Given the description of an element on the screen output the (x, y) to click on. 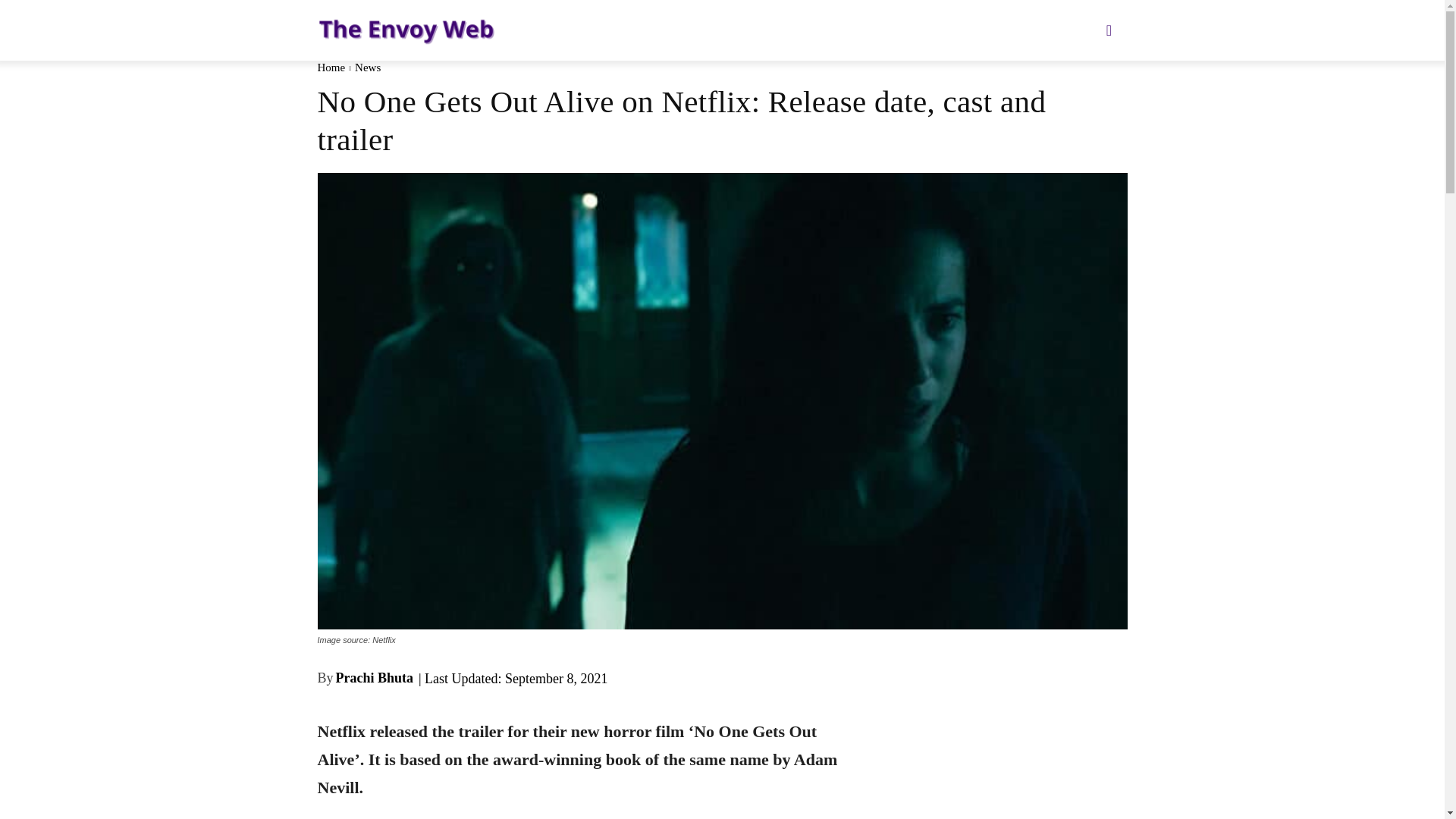
News (367, 67)
Prachi Bhuta (374, 677)
View all posts in News (367, 67)
Home (331, 67)
